Given the description of an element on the screen output the (x, y) to click on. 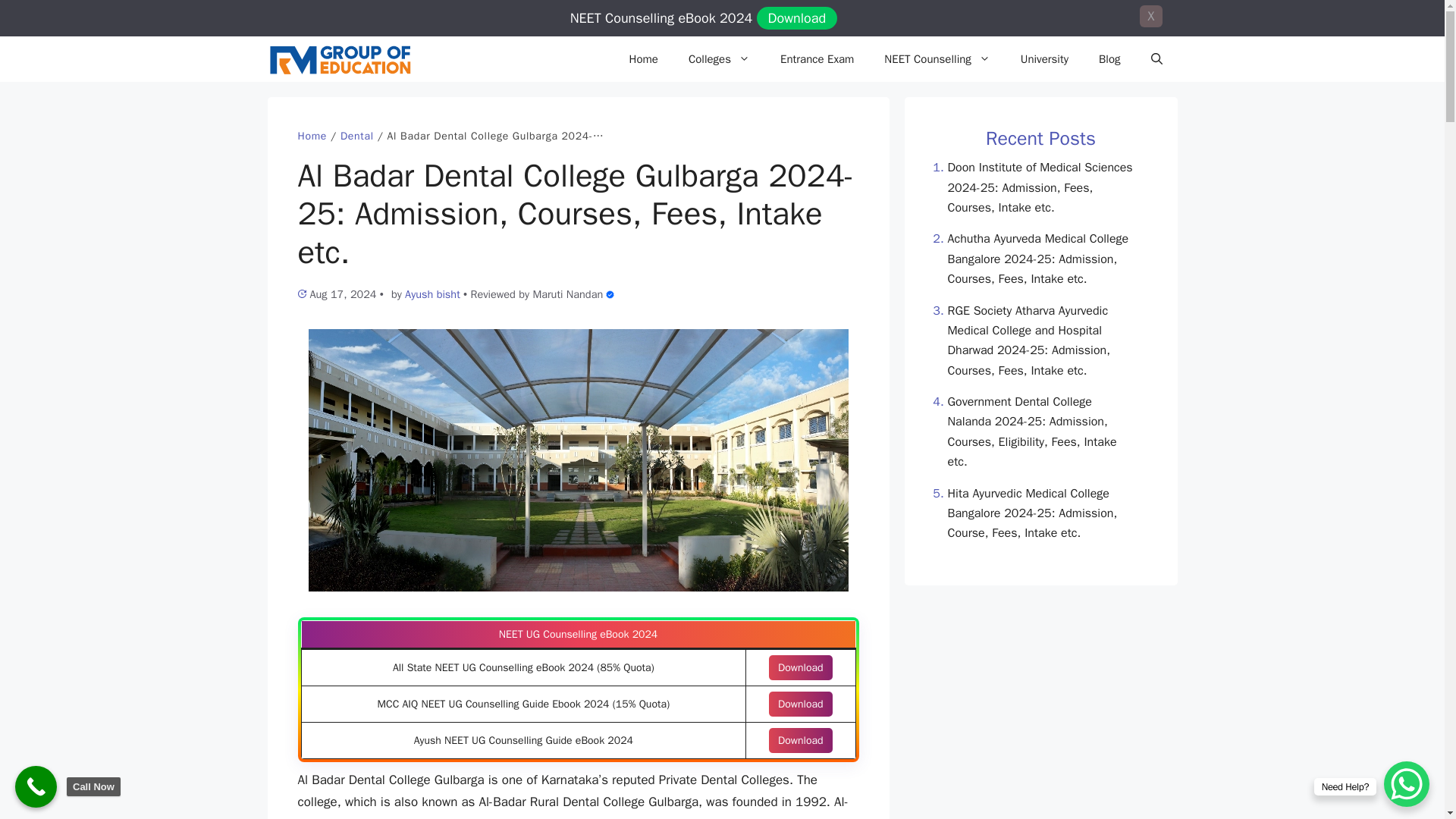
Home (643, 58)
Maruti Nandan (567, 294)
University (1044, 58)
Entrance Exam (817, 58)
RMGOE Expert (567, 294)
Blog (1109, 58)
Colleges (718, 58)
Download (800, 740)
RMGOE Expert (609, 294)
Download (800, 667)
